Given the description of an element on the screen output the (x, y) to click on. 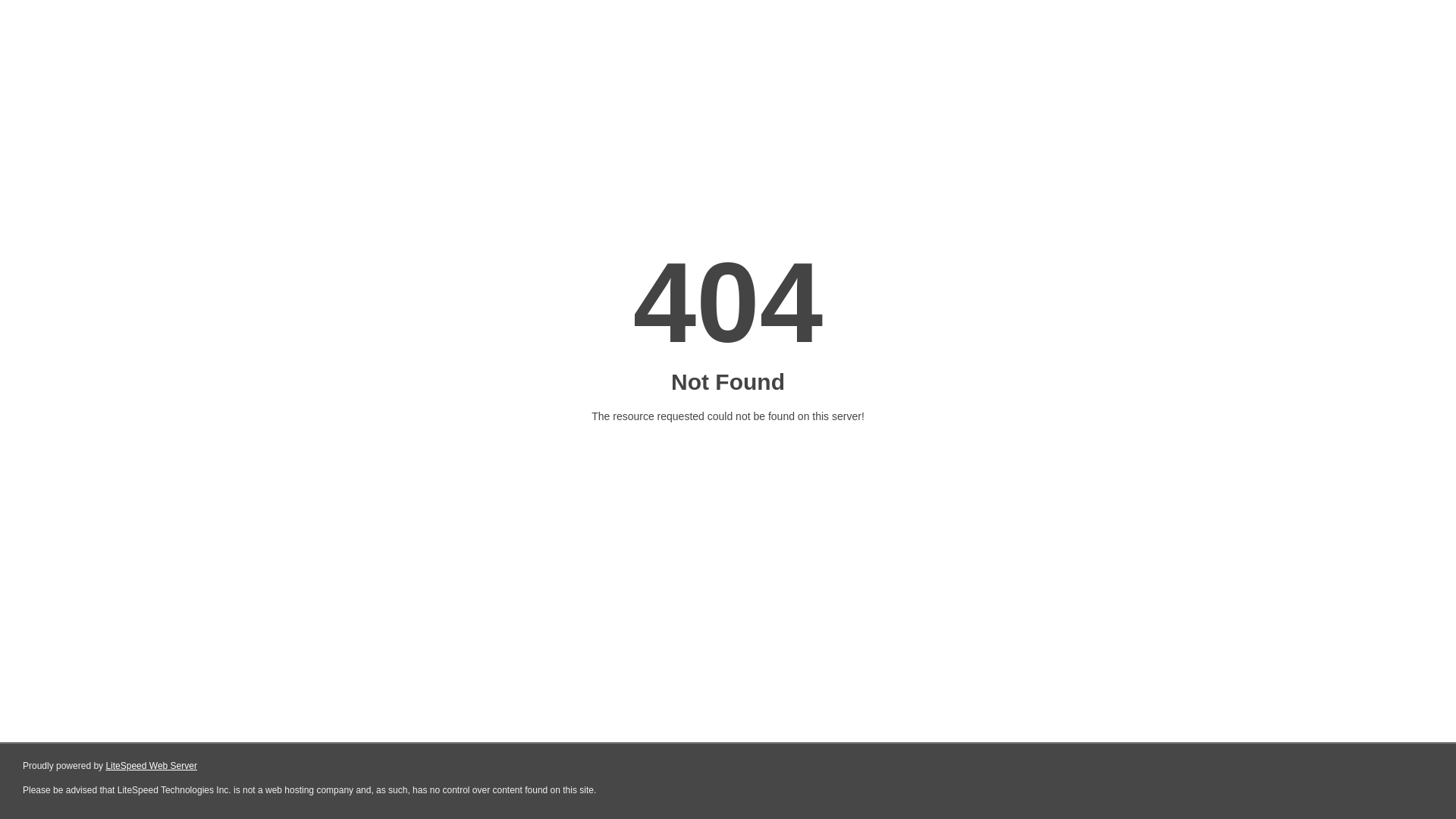
LiteSpeed Web Server Element type: text (151, 765)
